Given the description of an element on the screen output the (x, y) to click on. 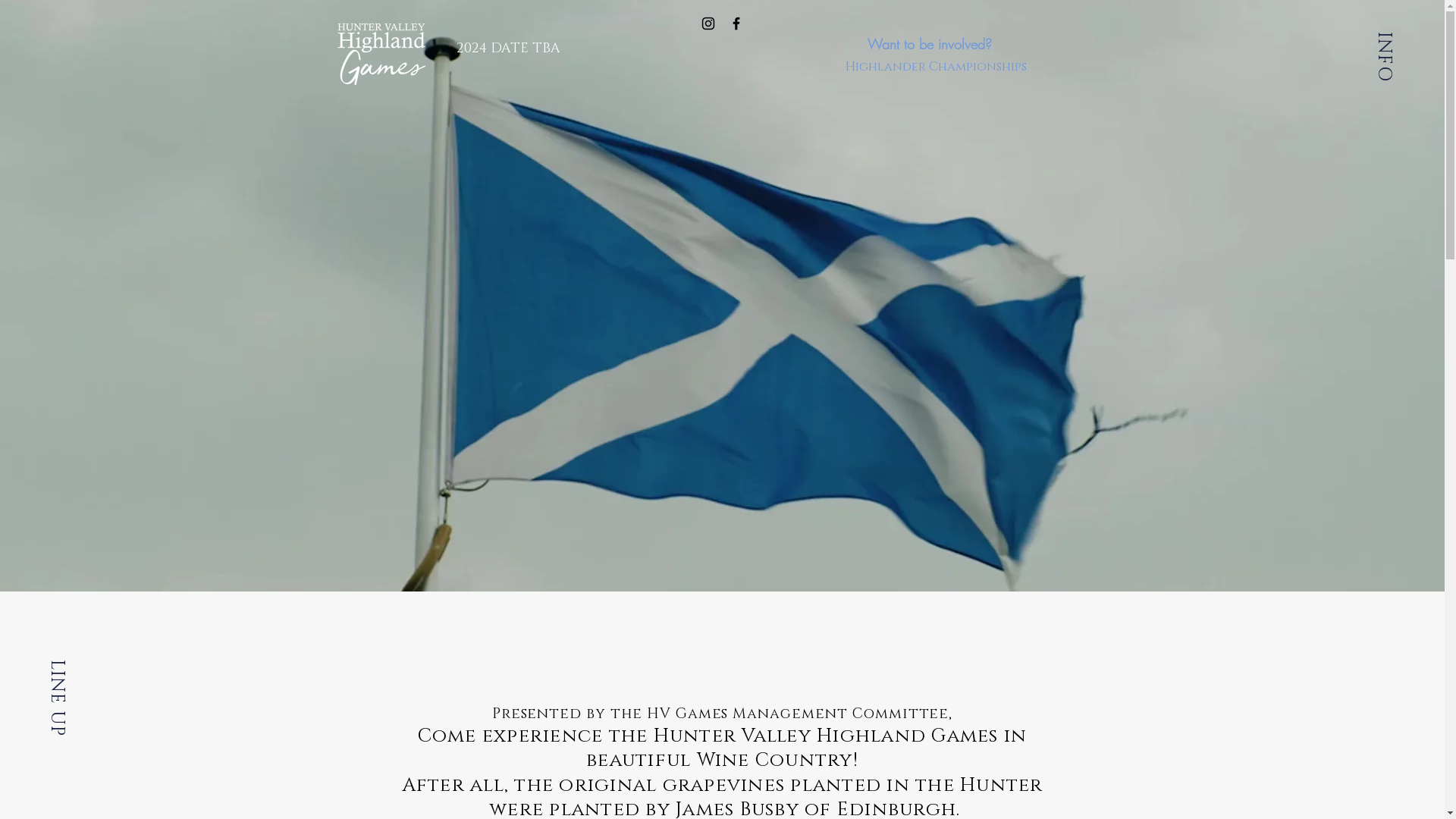
INFO Element type: text (1396, 43)
LINE UP Element type: text (81, 670)
2024 DATE TBA Element type: text (508, 48)
Highlander Championships Element type: text (936, 66)
